Given the description of an element on the screen output the (x, y) to click on. 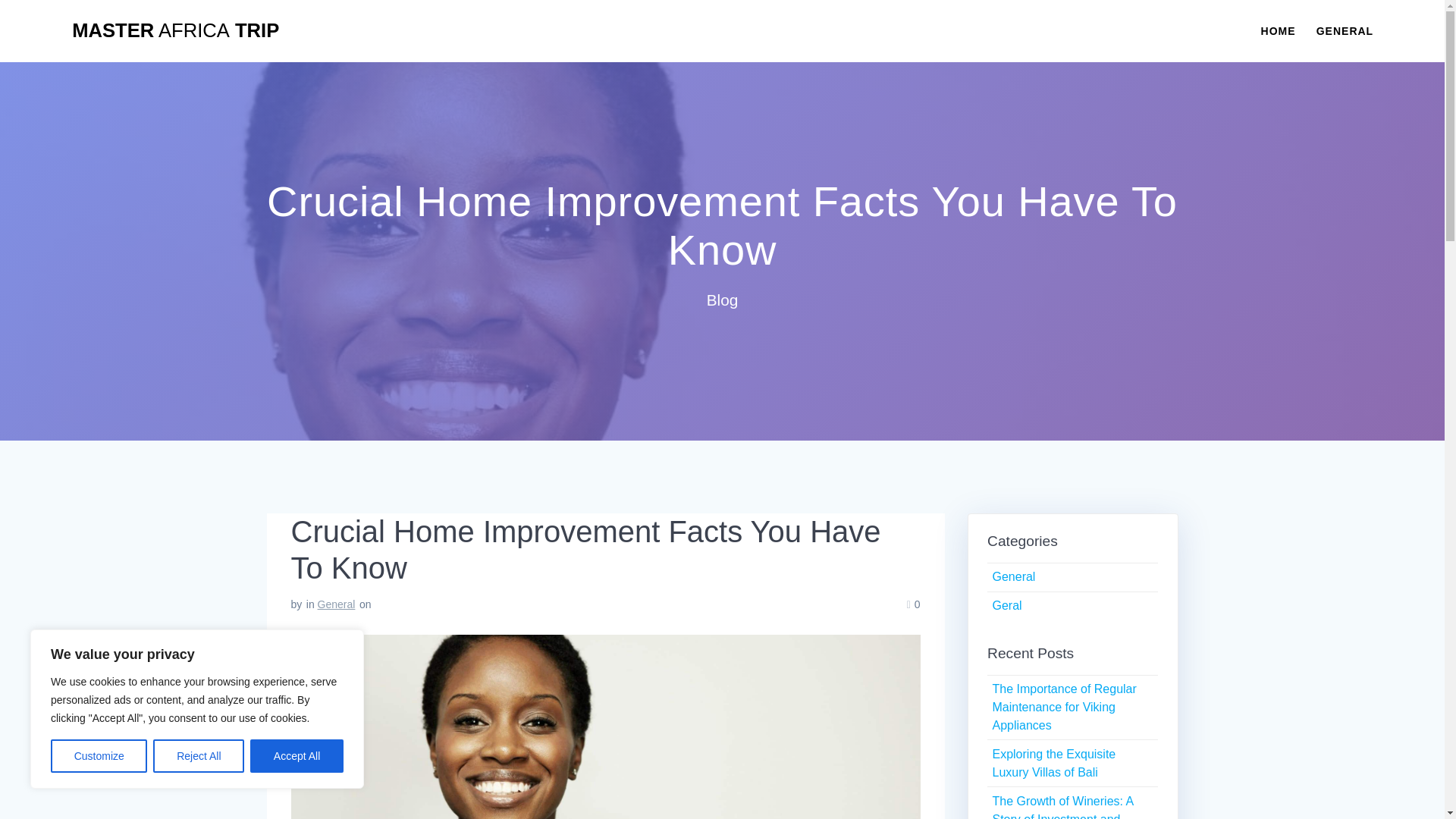
Exploring the Exquisite Luxury Villas of Bali (1053, 762)
Accept All (296, 756)
MASTER AFRICA TRIP (175, 30)
HOME (1277, 30)
General (1013, 576)
Geral (1006, 604)
Customize (98, 756)
The Importance of Regular Maintenance for Viking Appliances (1063, 707)
Reject All (198, 756)
General (336, 604)
The Growth of Wineries: A Story of Investment and Return (1061, 806)
GENERAL (1344, 30)
